Given the description of an element on the screen output the (x, y) to click on. 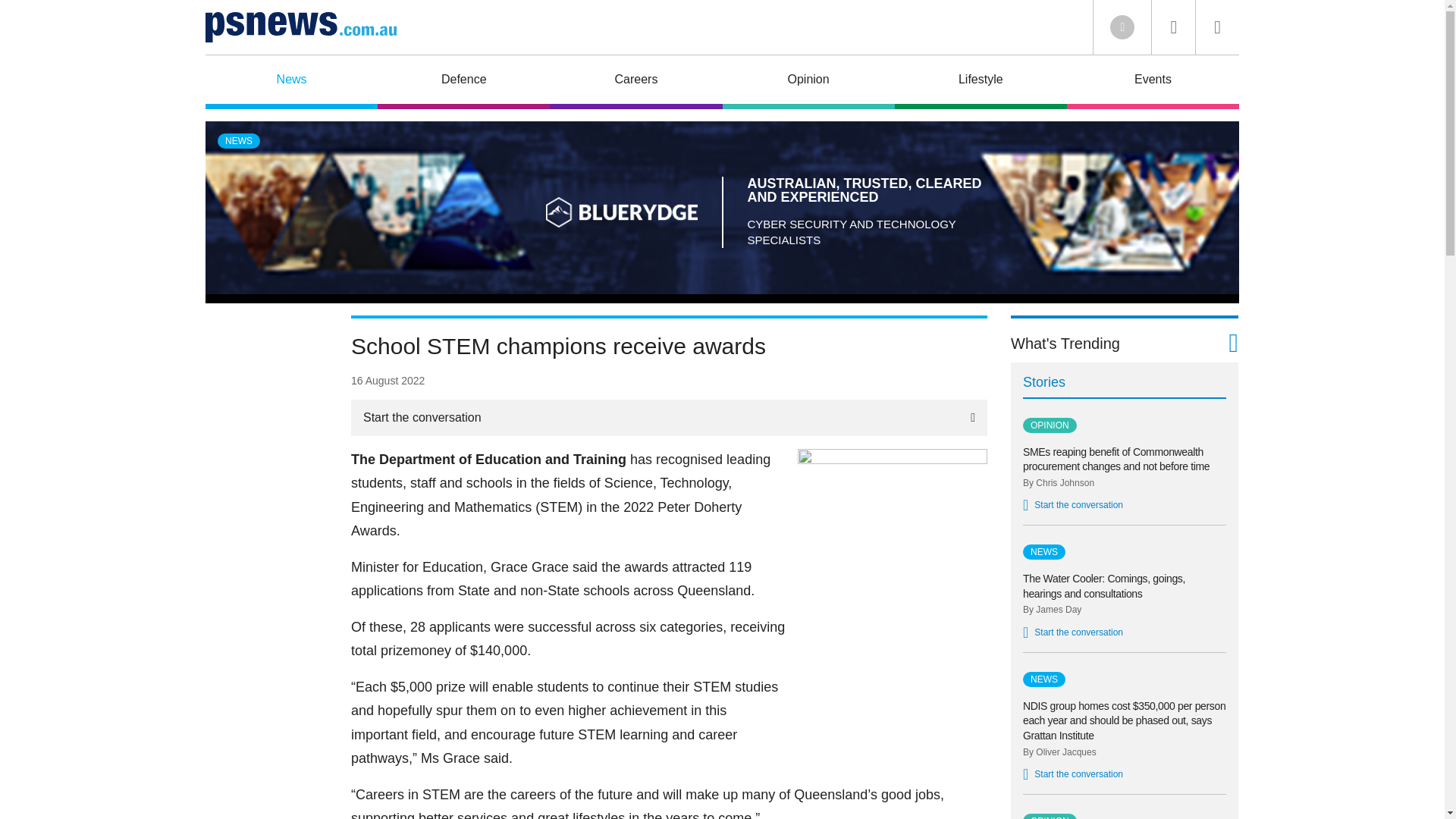
PS News Home (300, 26)
LinkedIn (1121, 27)
News (291, 81)
Defence (463, 81)
